Given the description of an element on the screen output the (x, y) to click on. 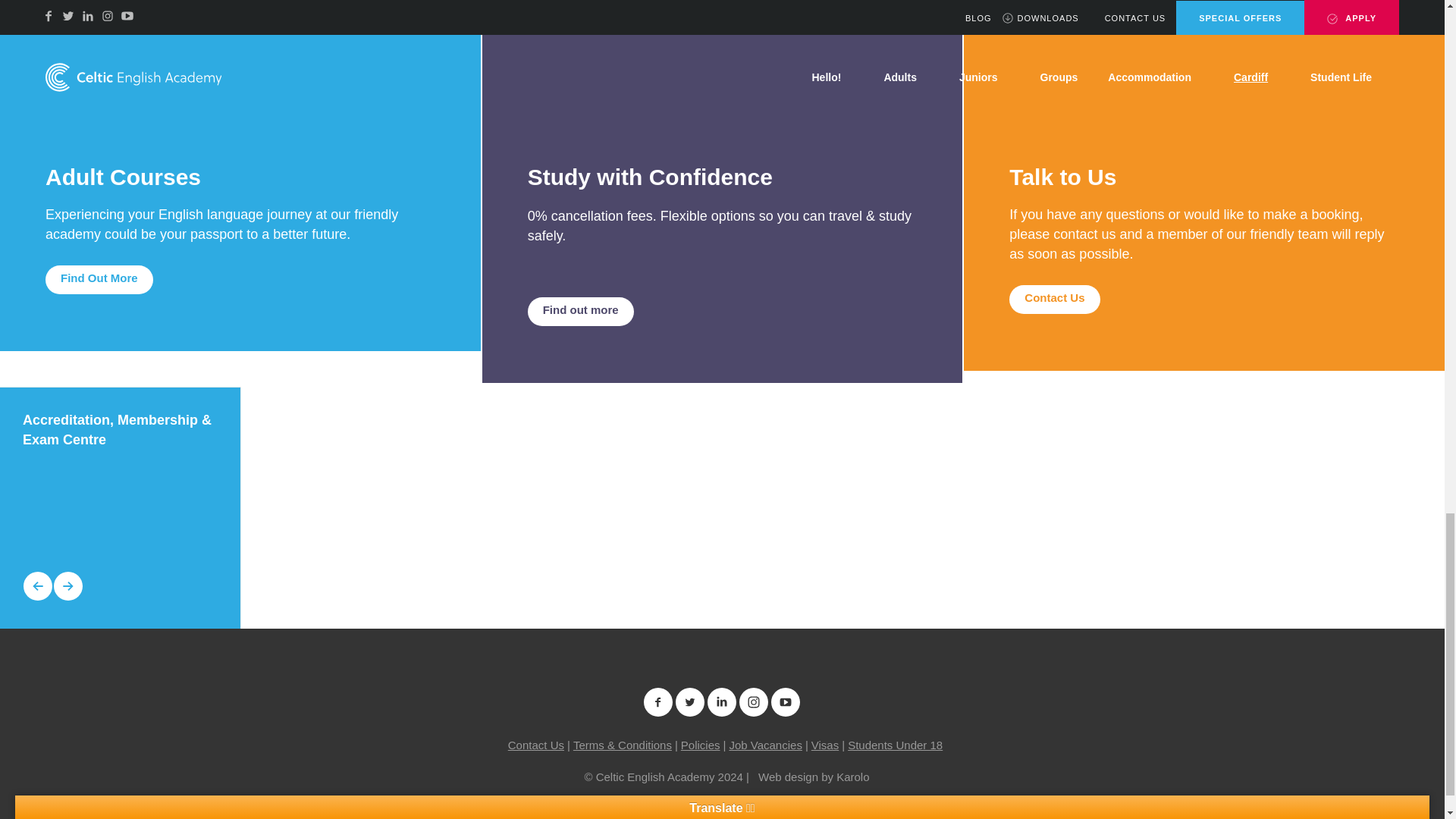
Find Out More (98, 279)
